Given the description of an element on the screen output the (x, y) to click on. 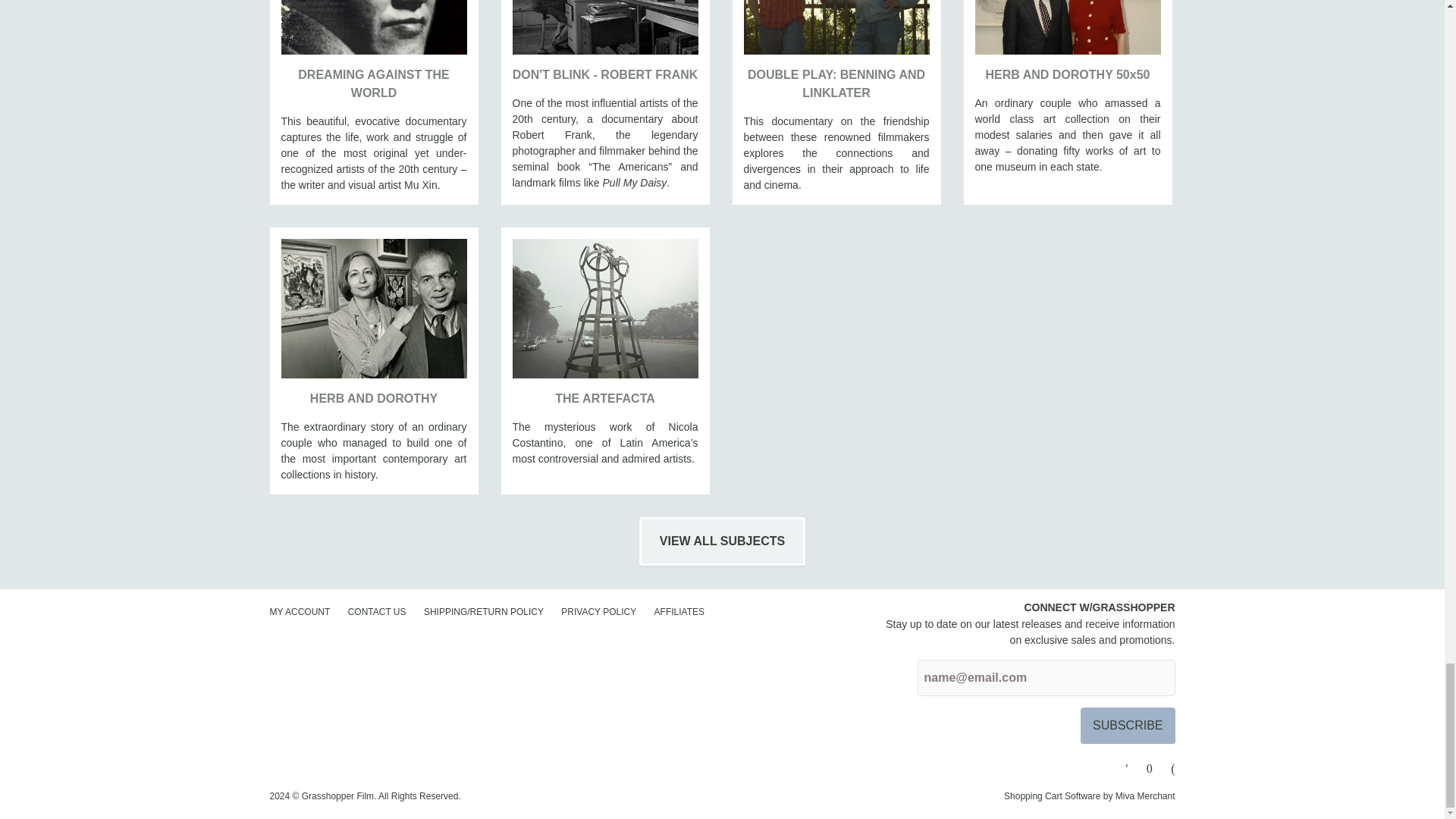
Subscribe (1127, 725)
